Given the description of an element on the screen output the (x, y) to click on. 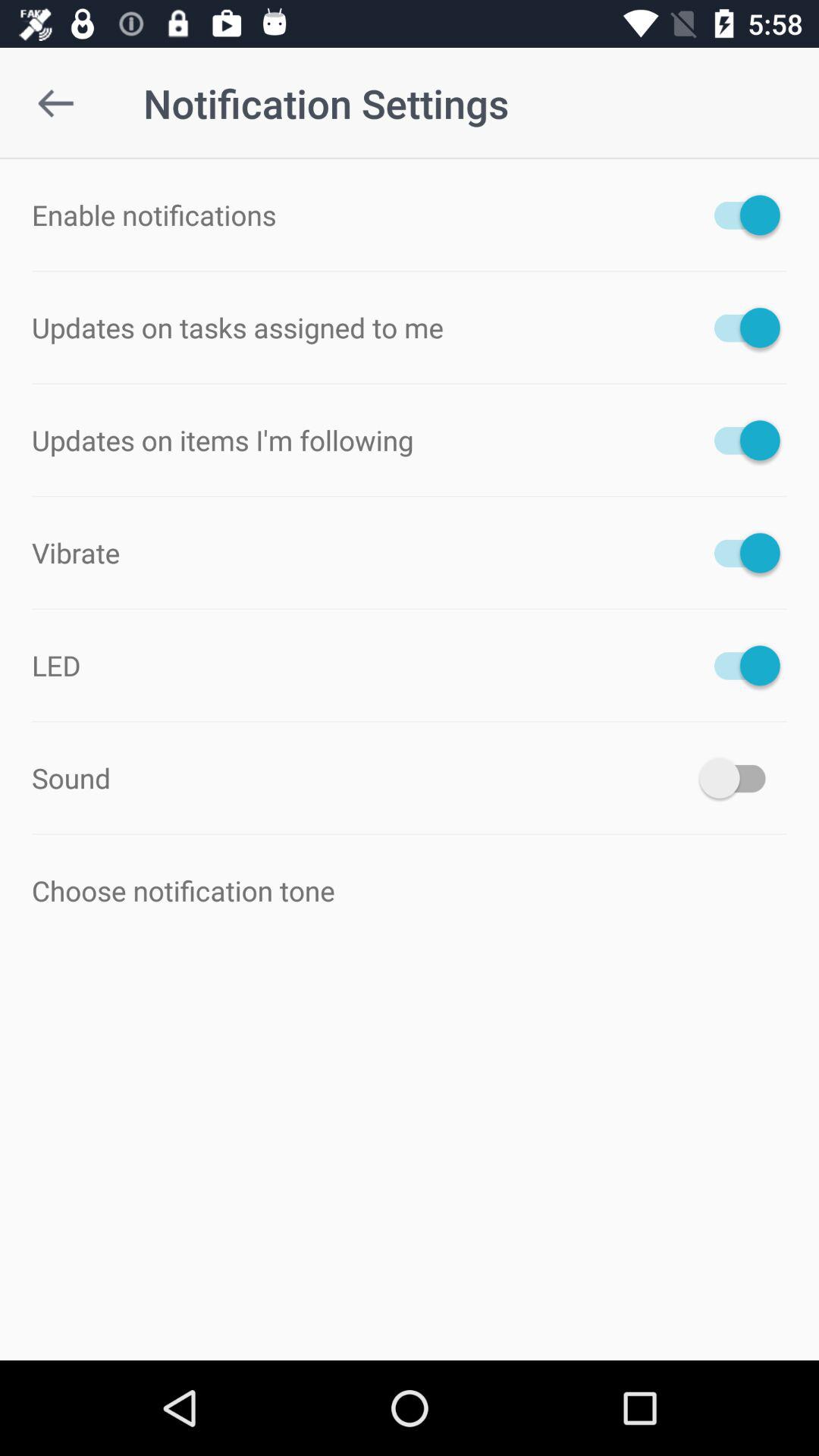
switch vibrate (739, 552)
